Given the description of an element on the screen output the (x, y) to click on. 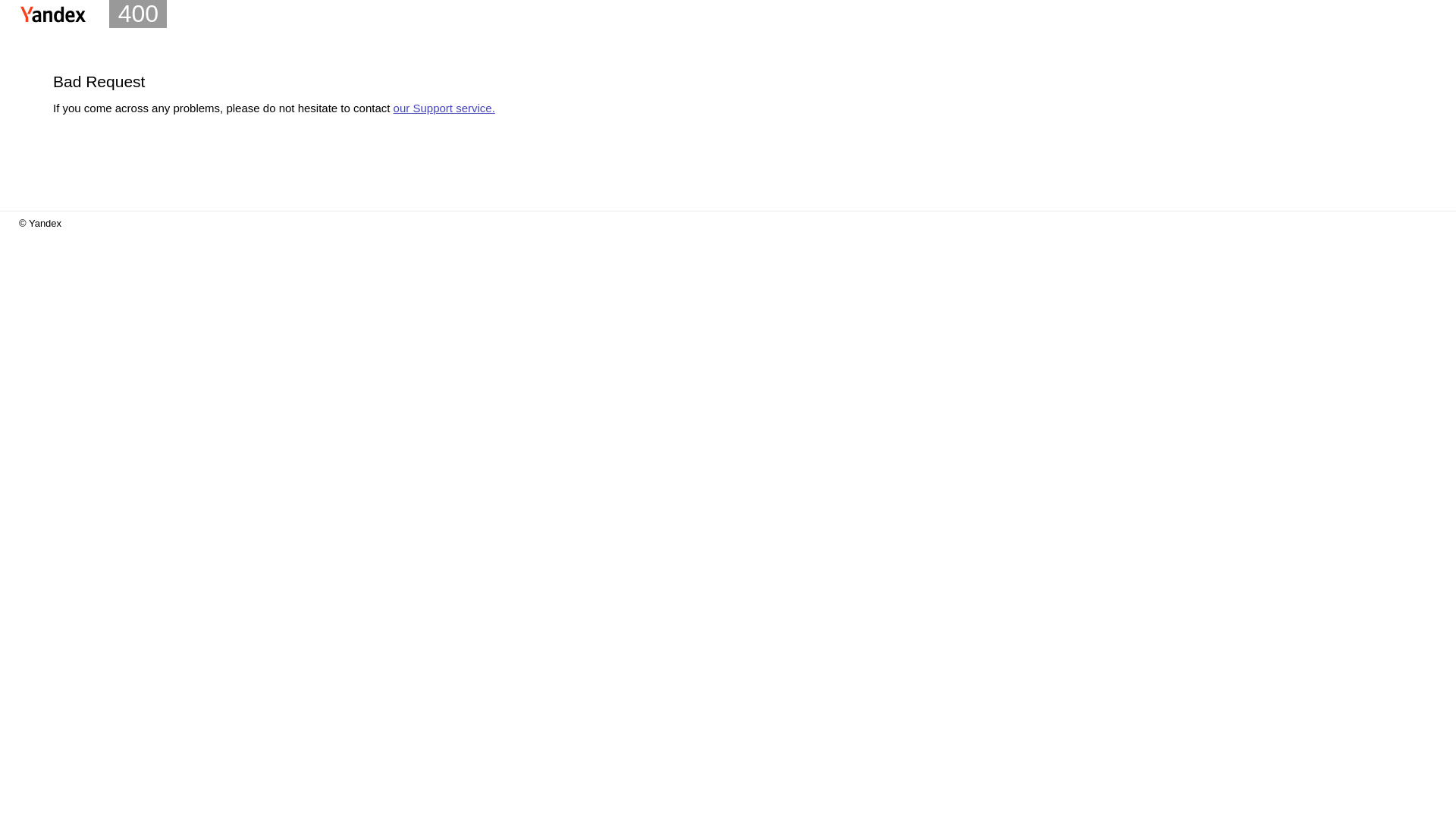
Yandex Element type: text (52, 14)
our Support service. Element type: text (444, 107)
